Given the description of an element on the screen output the (x, y) to click on. 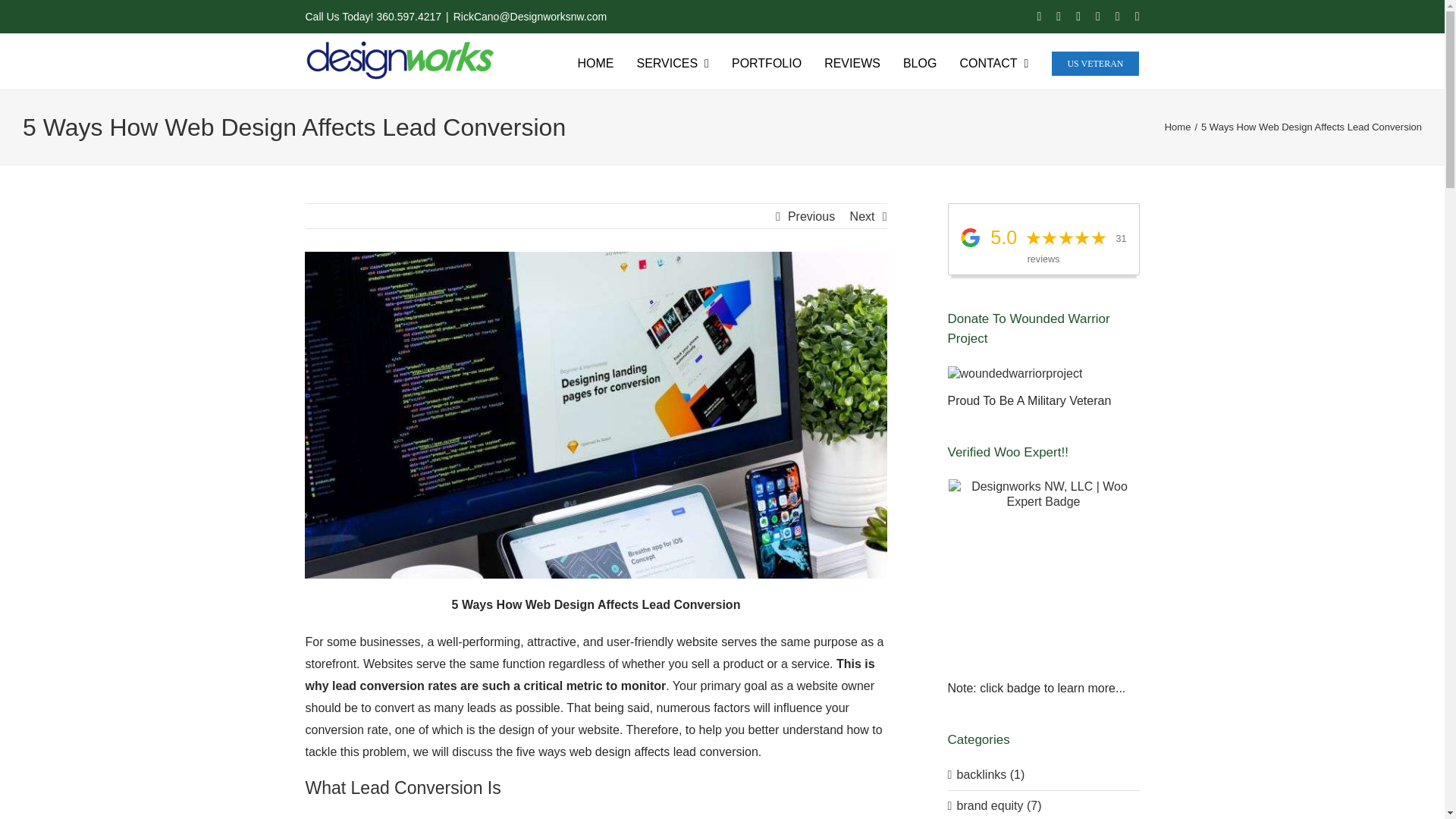
360.597.4217 (408, 16)
CONTACT (993, 62)
PORTFOLIO (767, 62)
Home (1177, 126)
SERVICES (671, 62)
Previous (810, 216)
REVIEWS (852, 62)
Next (862, 216)
US VETERAN (1094, 62)
